Given the description of an element on the screen output the (x, y) to click on. 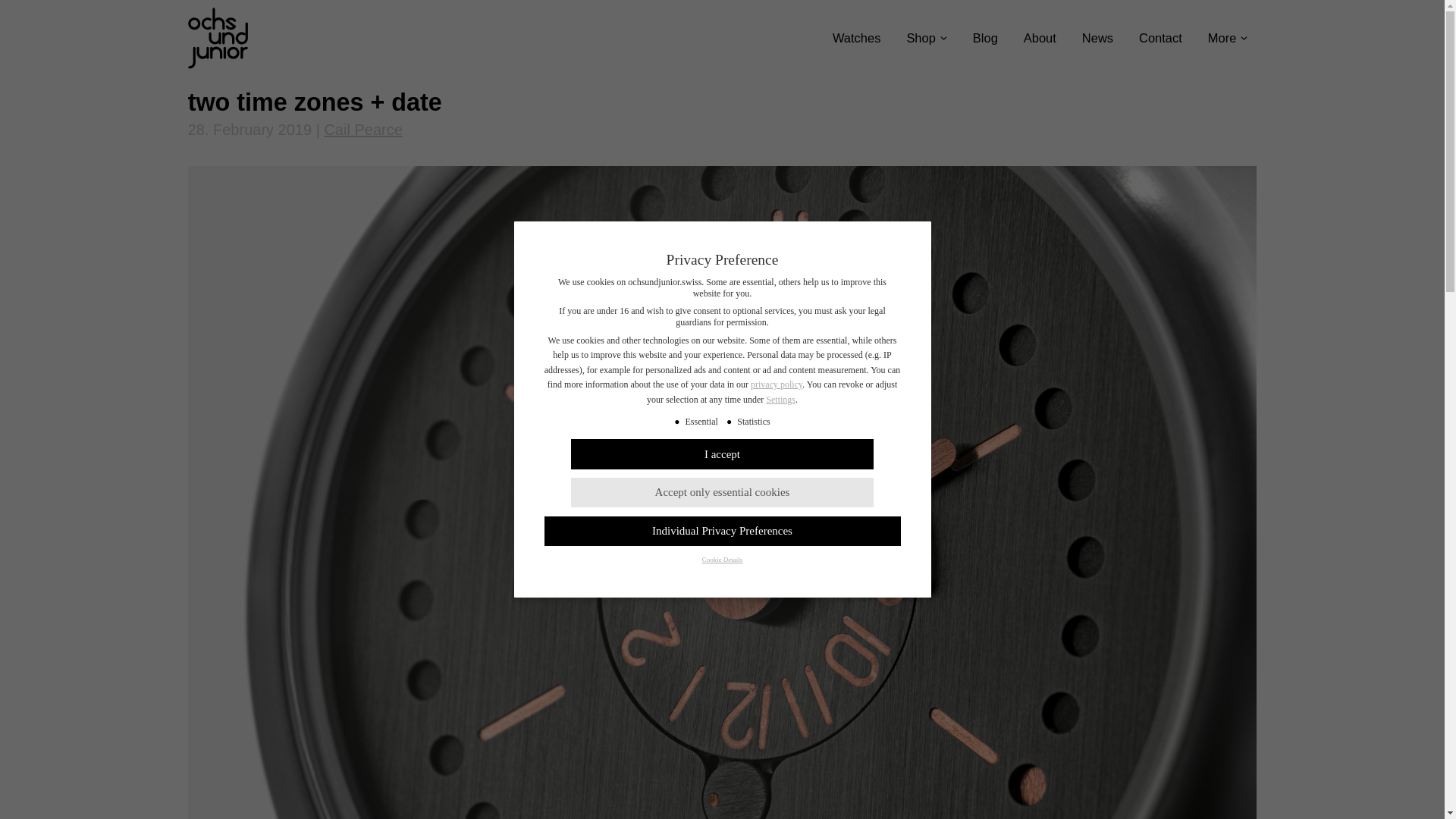
Shop (921, 37)
Contact (1160, 37)
More (1222, 37)
Cail Pearce (362, 129)
Watches (856, 37)
About (1039, 37)
News (1097, 37)
Blog (985, 37)
